Given the description of an element on the screen output the (x, y) to click on. 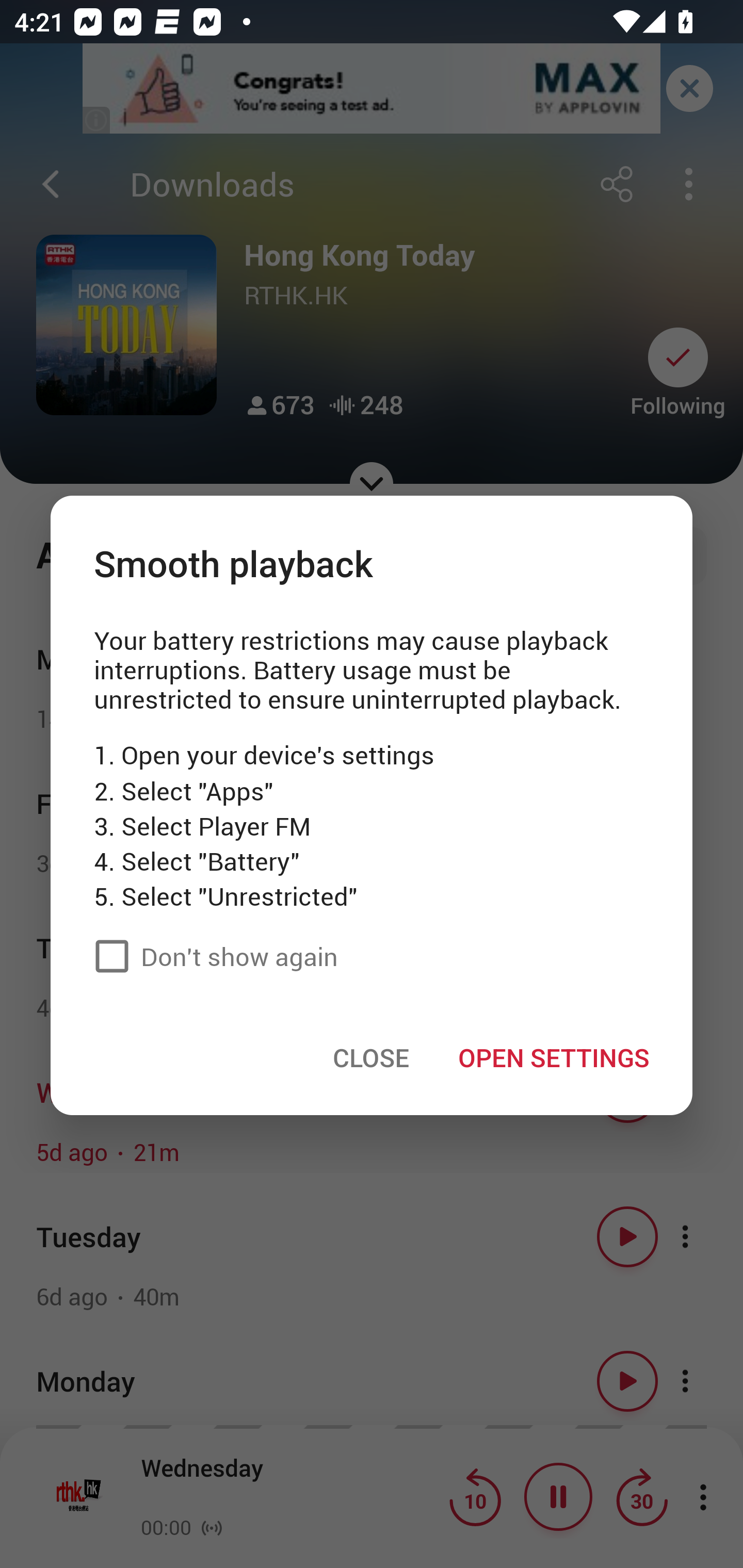
Don't show again (210, 955)
CLOSE (371, 1057)
OPEN SETTINGS (553, 1057)
